Given the description of an element on the screen output the (x, y) to click on. 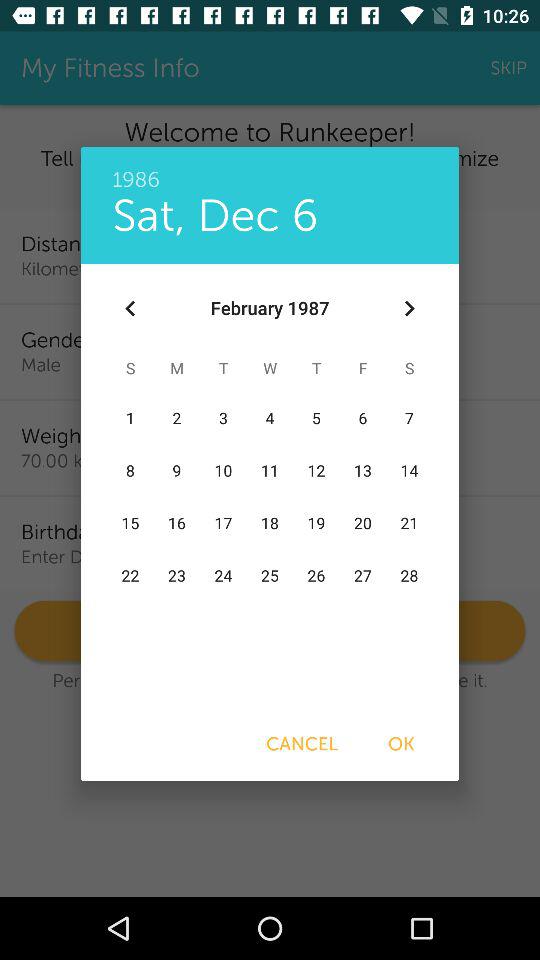
launch the item below 1986 item (215, 215)
